Given the description of an element on the screen output the (x, y) to click on. 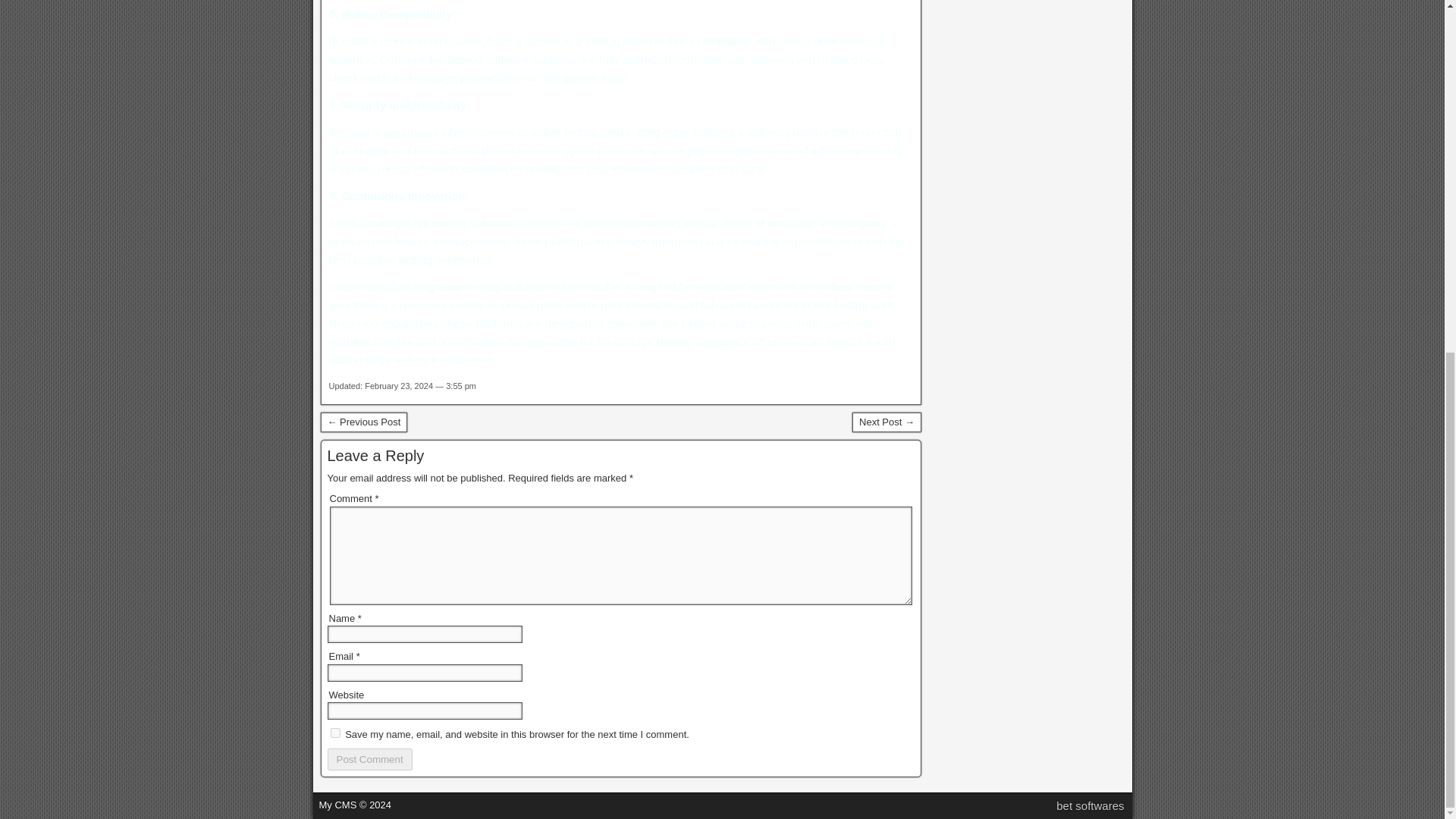
bet softwares (1090, 805)
Post Comment (369, 759)
Post Comment (369, 759)
yes (335, 732)
Mastering the Game: Effective Betting Strategies for Success (363, 422)
